Given the description of an element on the screen output the (x, y) to click on. 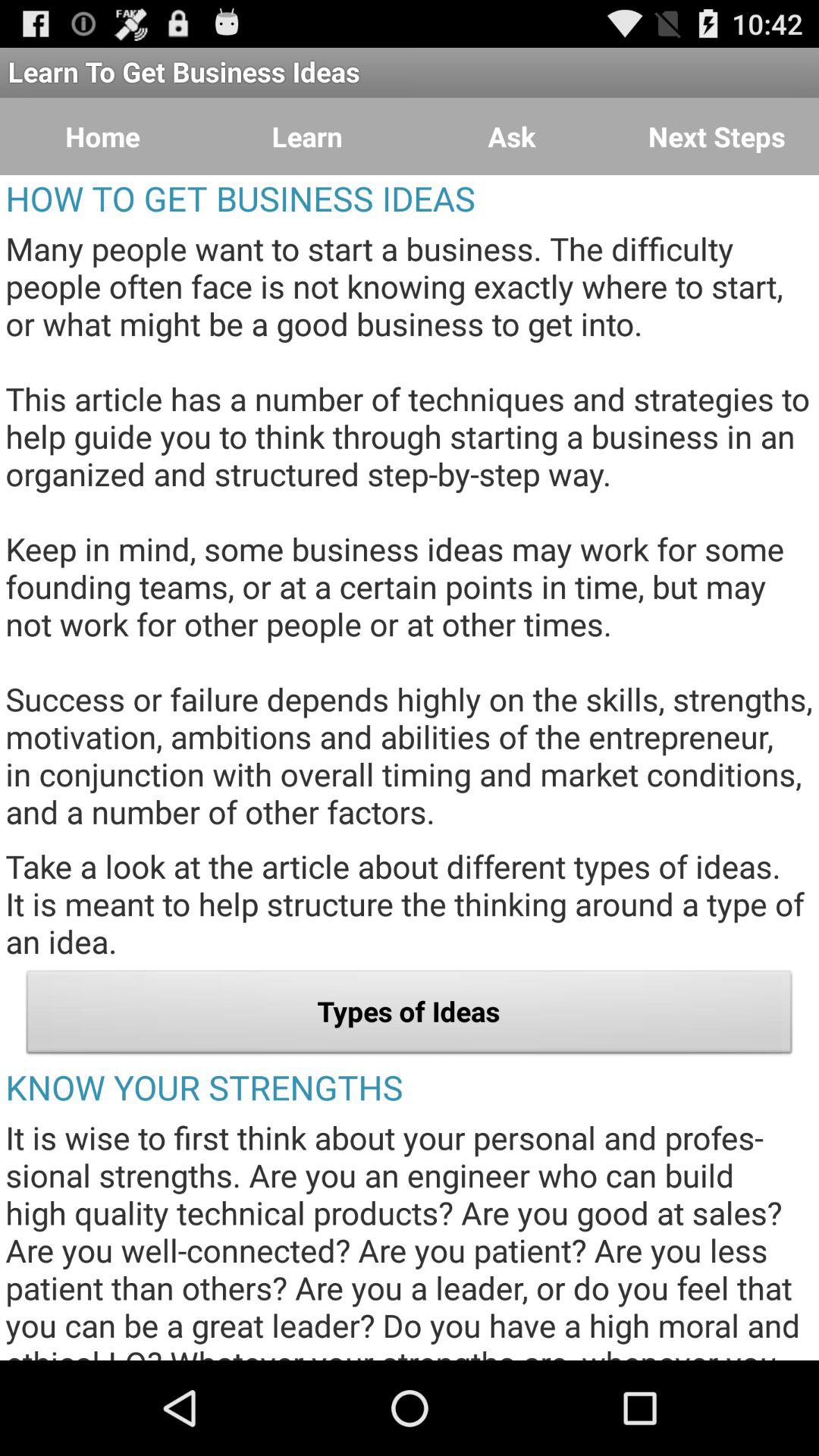
swipe until the ask icon (511, 136)
